Given the description of an element on the screen output the (x, y) to click on. 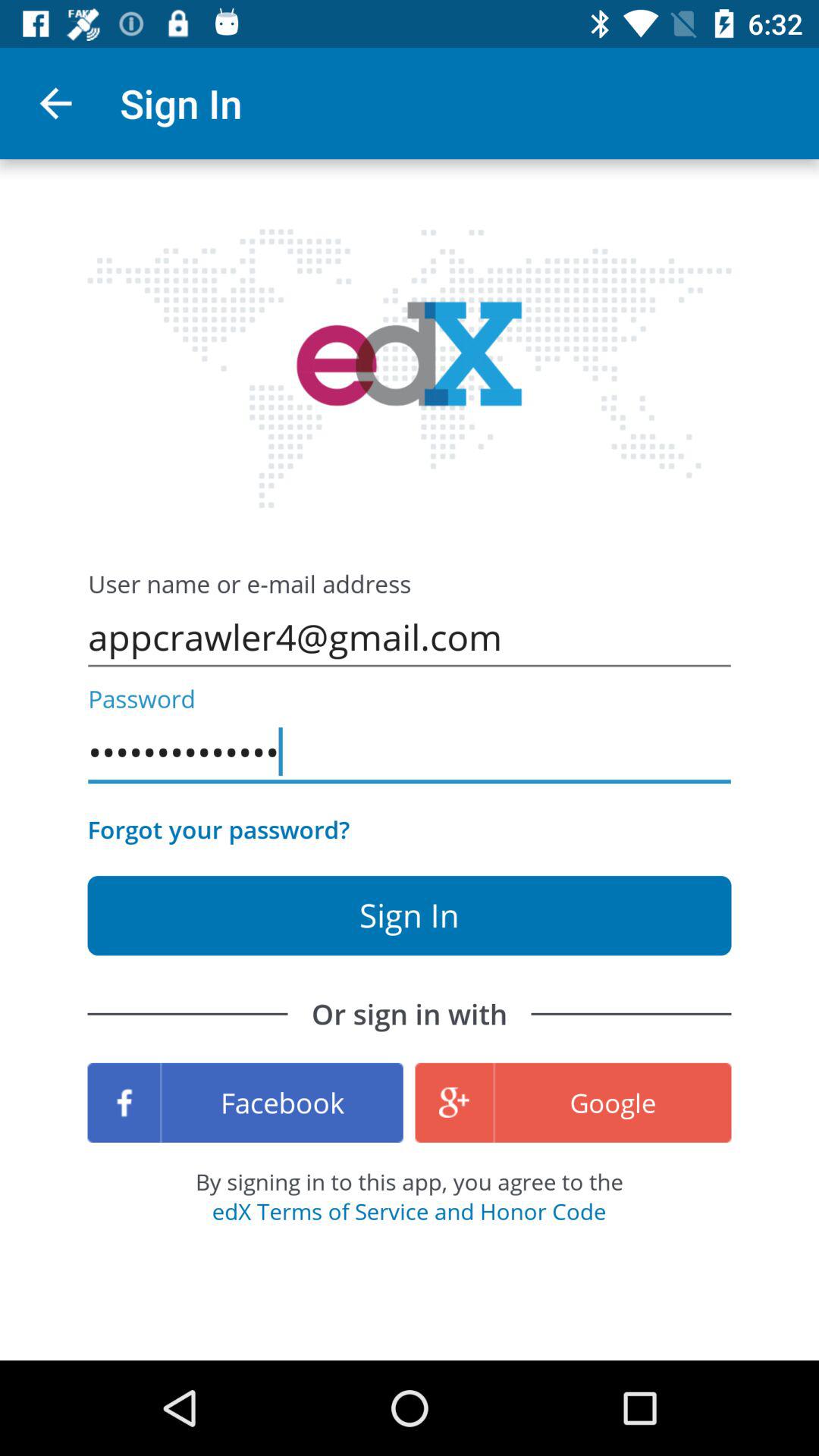
flip to the edx terms of item (409, 1211)
